Given the description of an element on the screen output the (x, y) to click on. 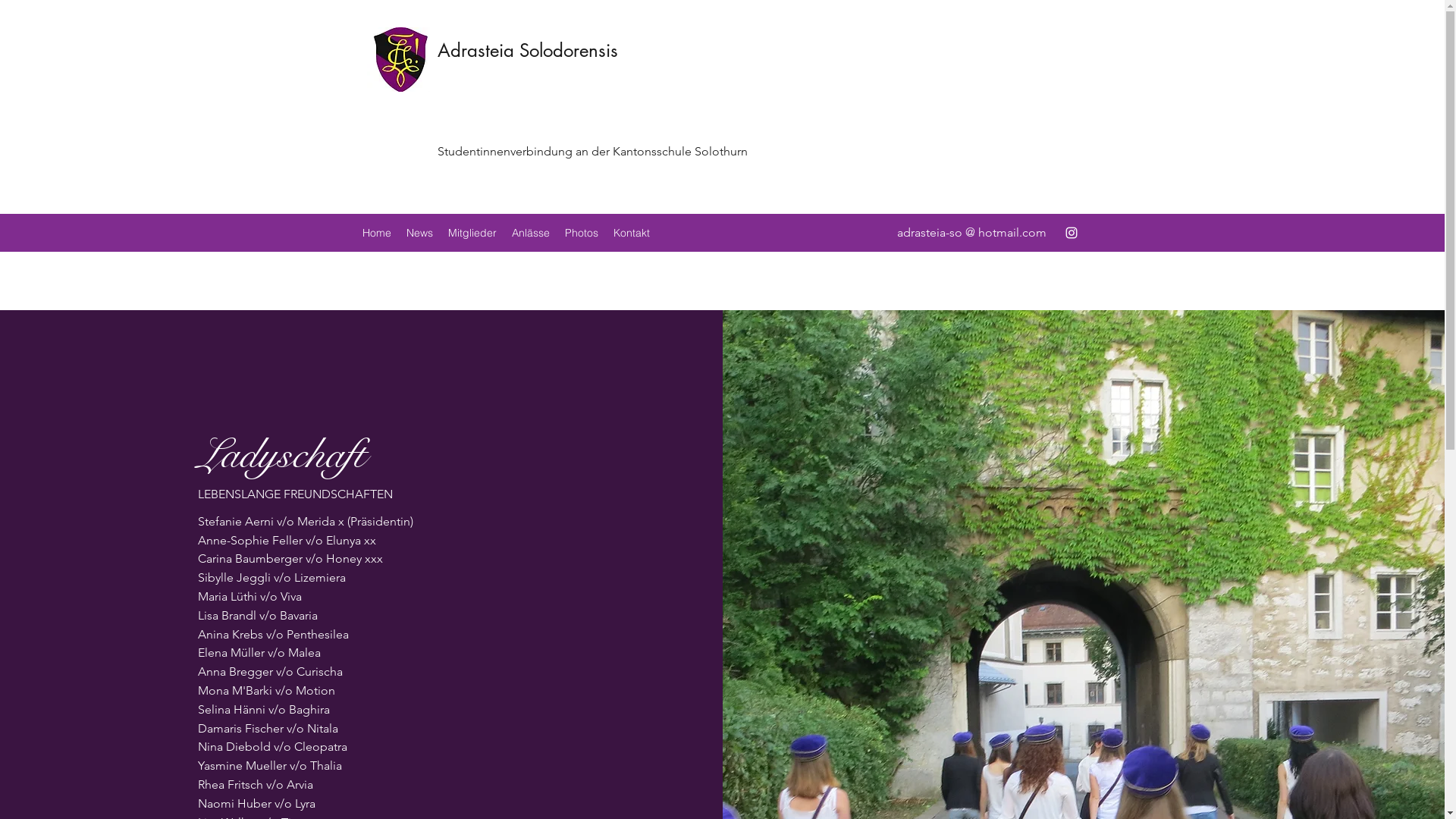
Photos Element type: text (580, 232)
Mitglieder Element type: text (471, 232)
News Element type: text (419, 232)
Home Element type: text (376, 232)
Kontakt Element type: text (630, 232)
